Given the description of an element on the screen output the (x, y) to click on. 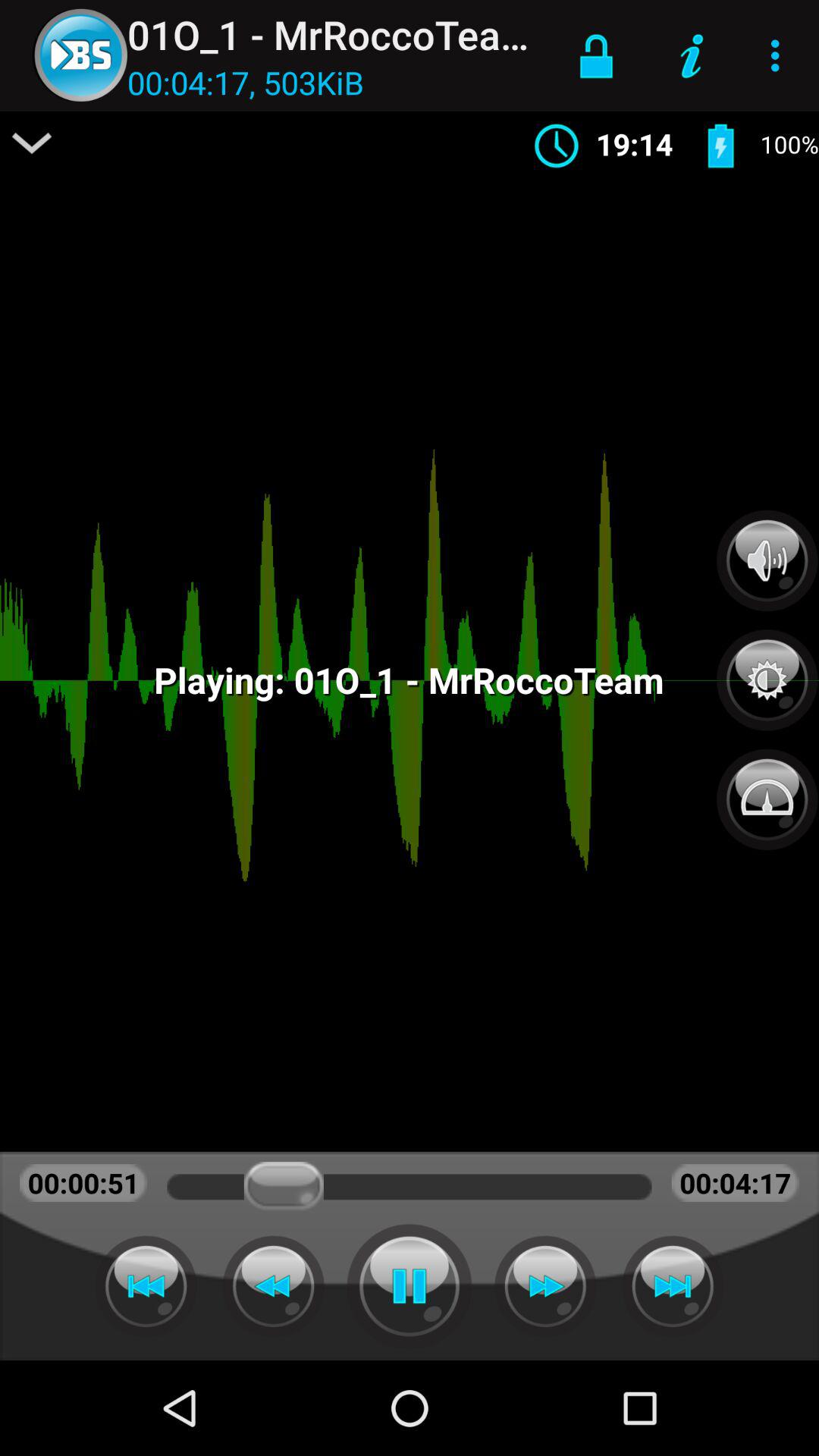
skip back a second (273, 1286)
